Given the description of an element on the screen output the (x, y) to click on. 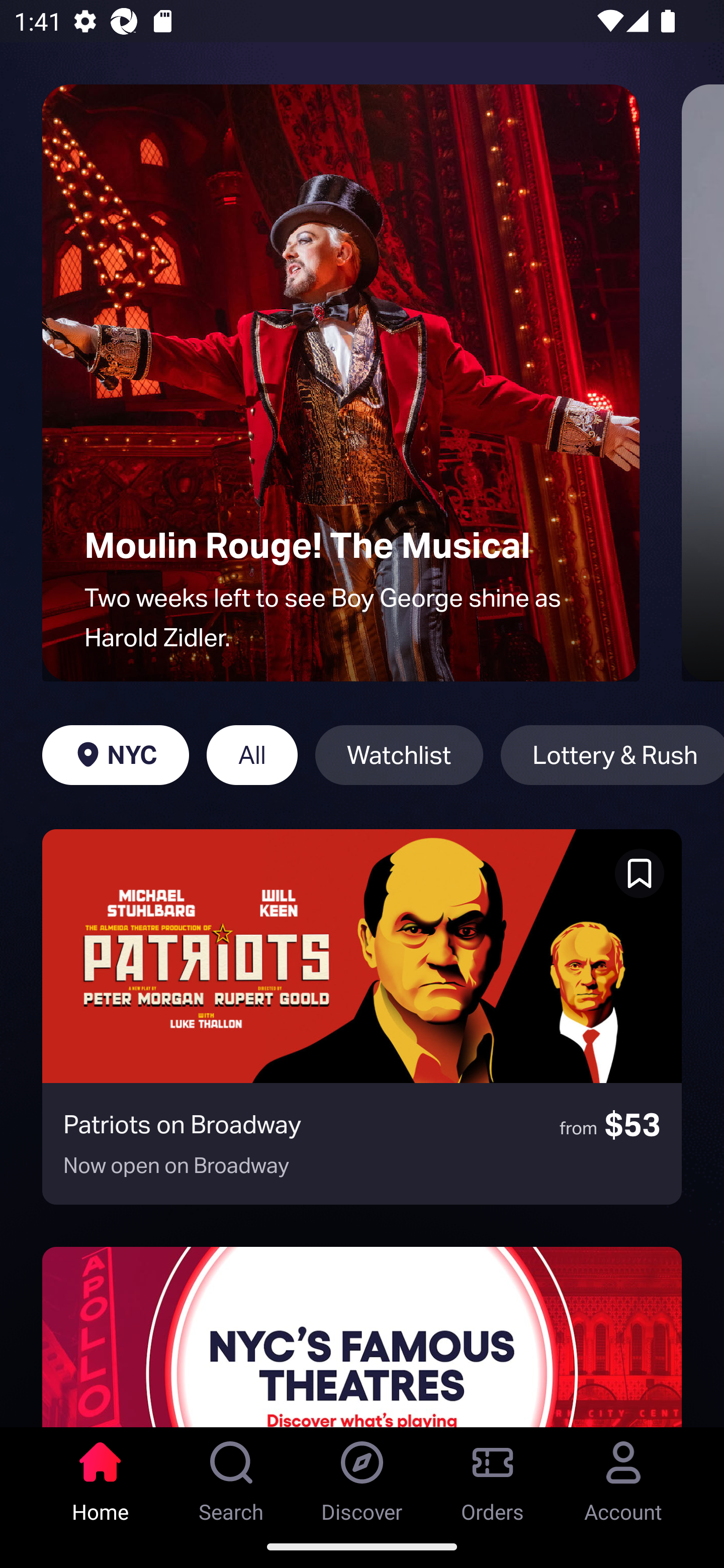
NYC (114, 754)
All (251, 754)
Watchlist (398, 754)
Lottery & Rush (612, 754)
Patriots on Broadway from $53 Now open on Broadway (361, 1016)
Search (230, 1475)
Discover (361, 1475)
Orders (492, 1475)
Account (623, 1475)
